Given the description of an element on the screen output the (x, y) to click on. 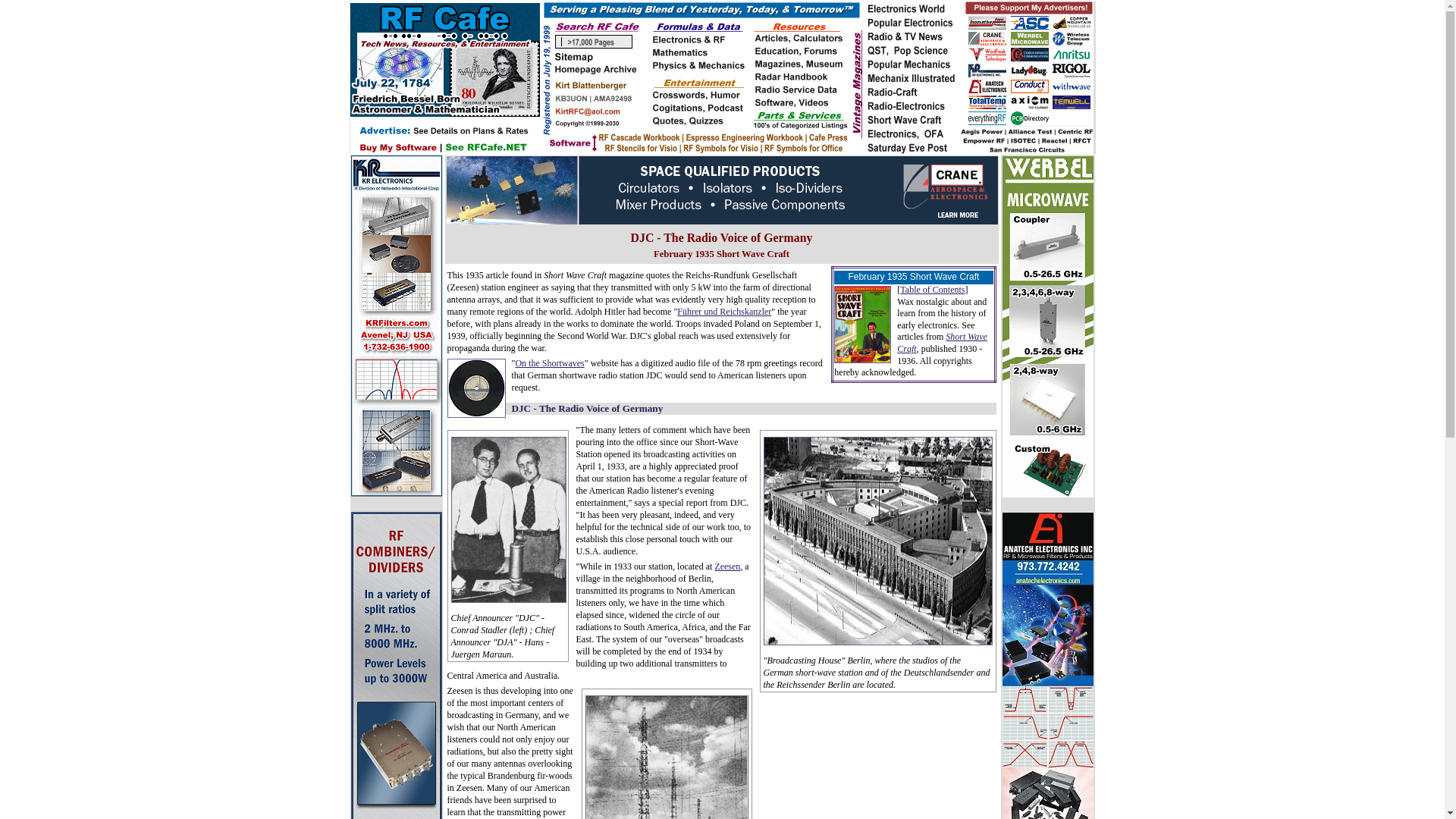
Short Wave Craft (941, 342)
On the Shortwaves (549, 362)
Table of Contents (931, 289)
Zeesen (726, 566)
